Given the description of an element on the screen output the (x, y) to click on. 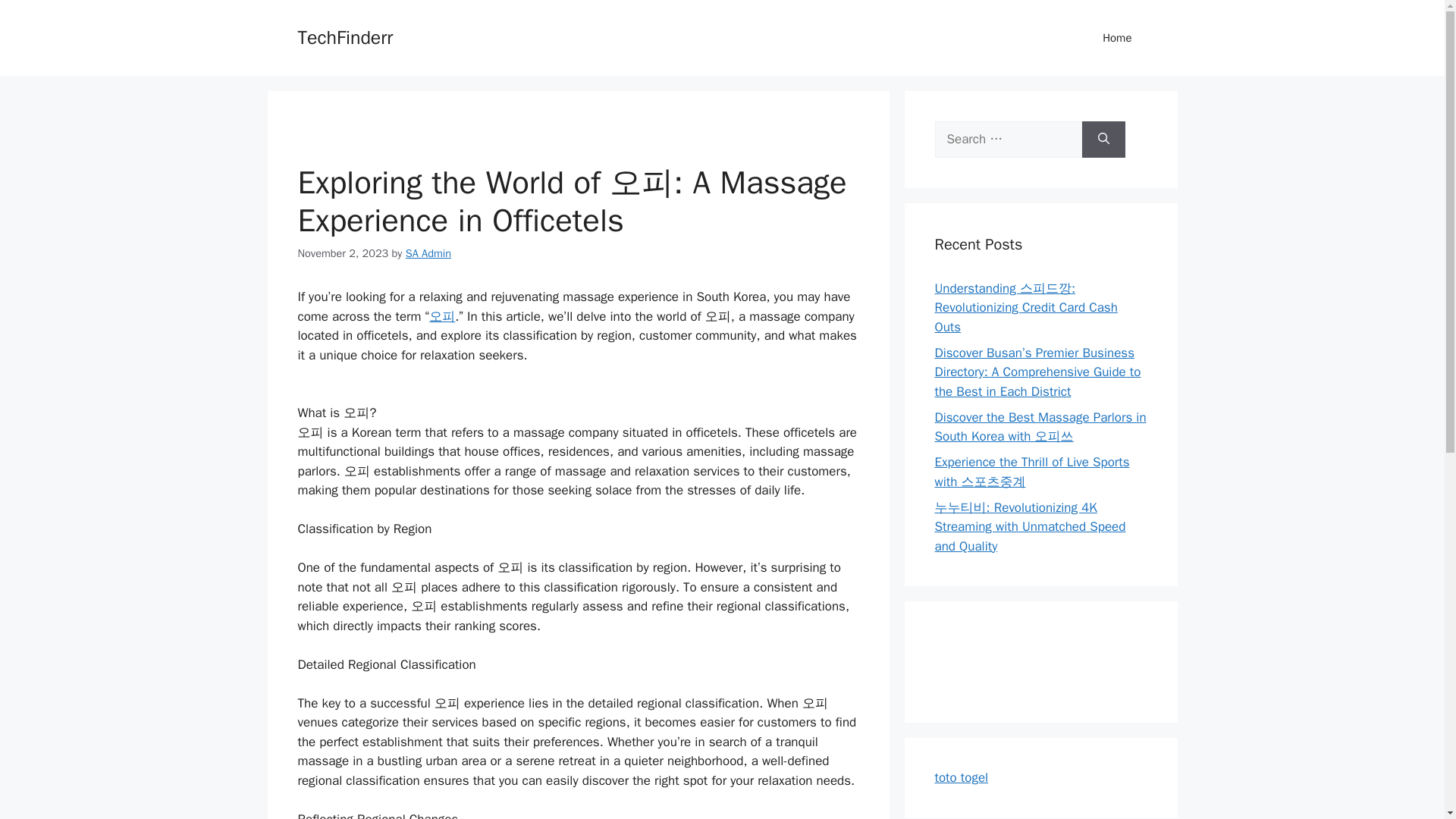
SA Admin (428, 252)
TechFinderr (345, 37)
View all posts by SA Admin (428, 252)
toto togel (961, 777)
Search for: (1007, 139)
Home (1117, 37)
